Given the description of an element on the screen output the (x, y) to click on. 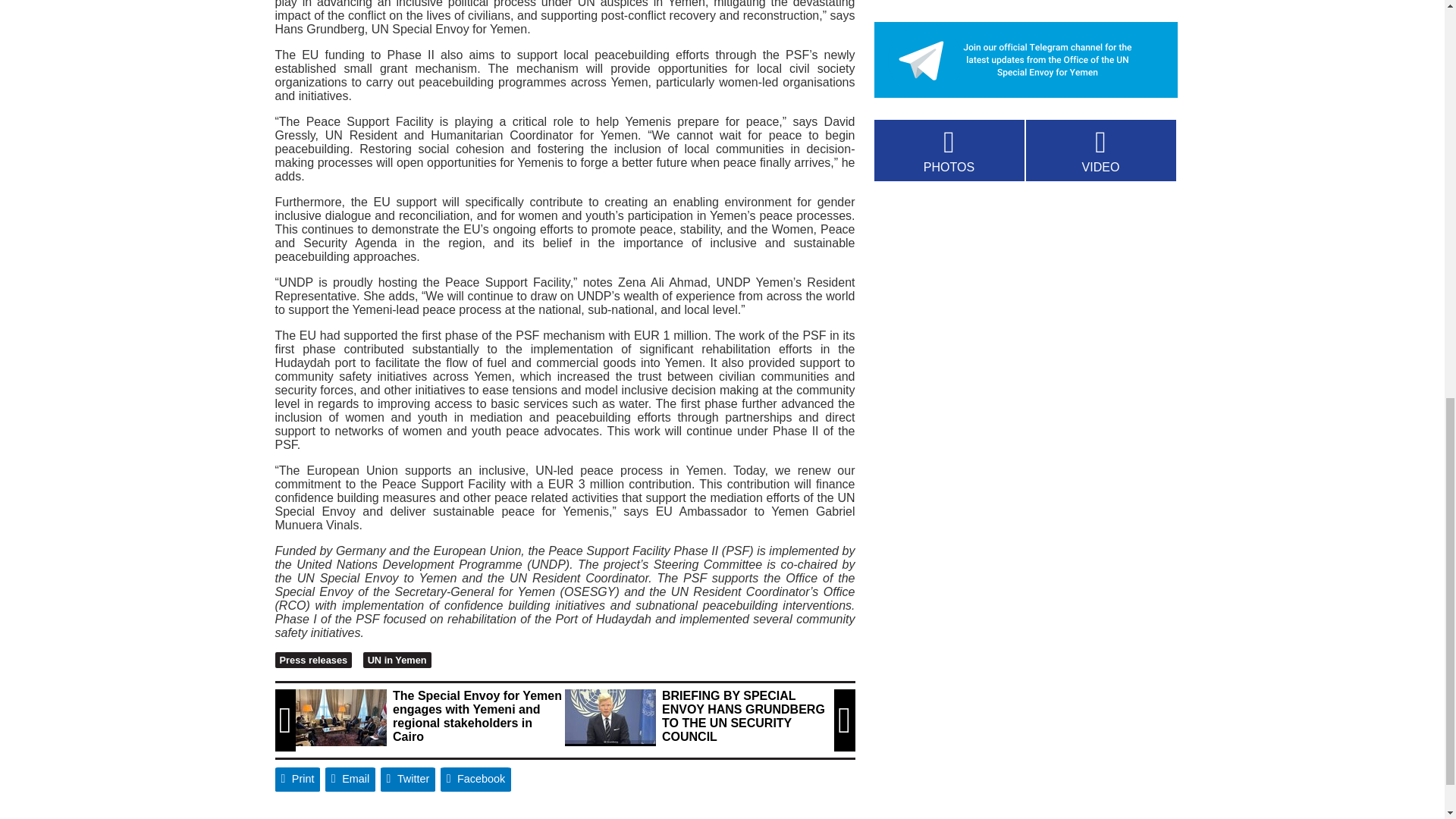
Facebook (476, 779)
Email (349, 779)
Twitter (407, 779)
Print (297, 779)
